Given the description of an element on the screen output the (x, y) to click on. 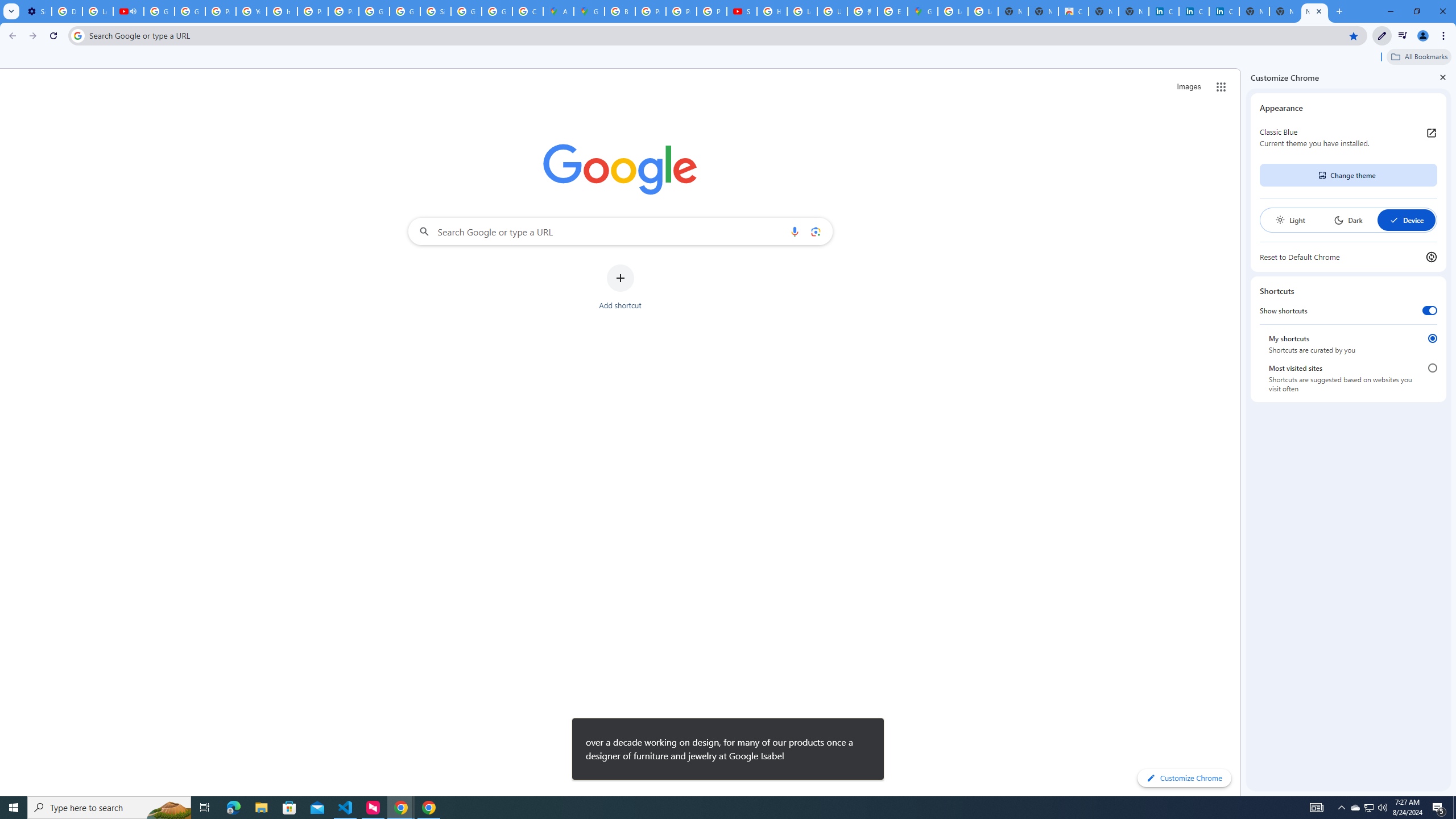
Learn how to find your photos - Google Photos Help (97, 11)
Google Account Help (158, 11)
Reset to Default Chrome (1347, 256)
Privacy Help Center - Policies Help (650, 11)
New Tab (1314, 11)
